Given the description of an element on the screen output the (x, y) to click on. 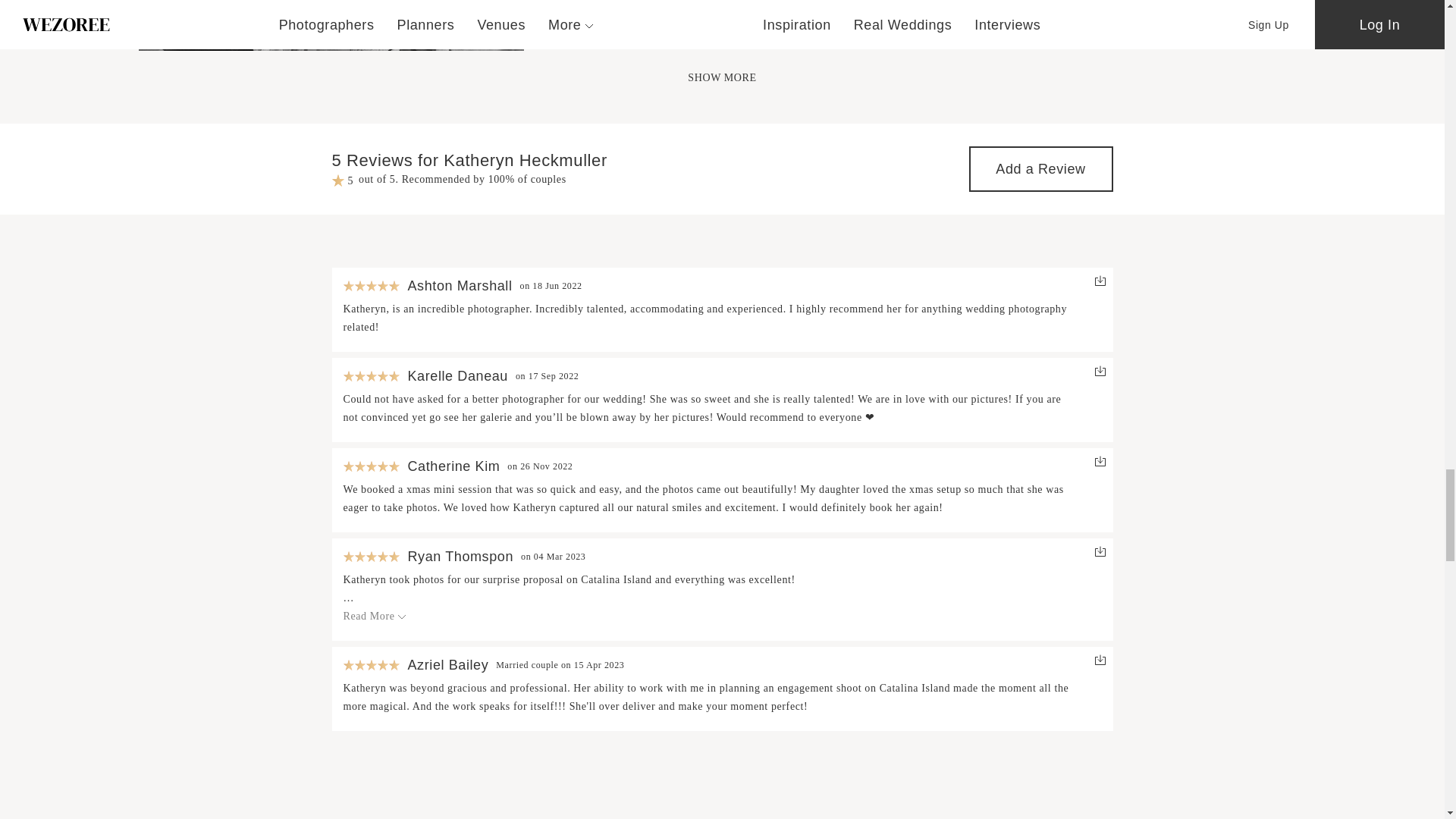
undefined (330, 25)
